Given the description of an element on the screen output the (x, y) to click on. 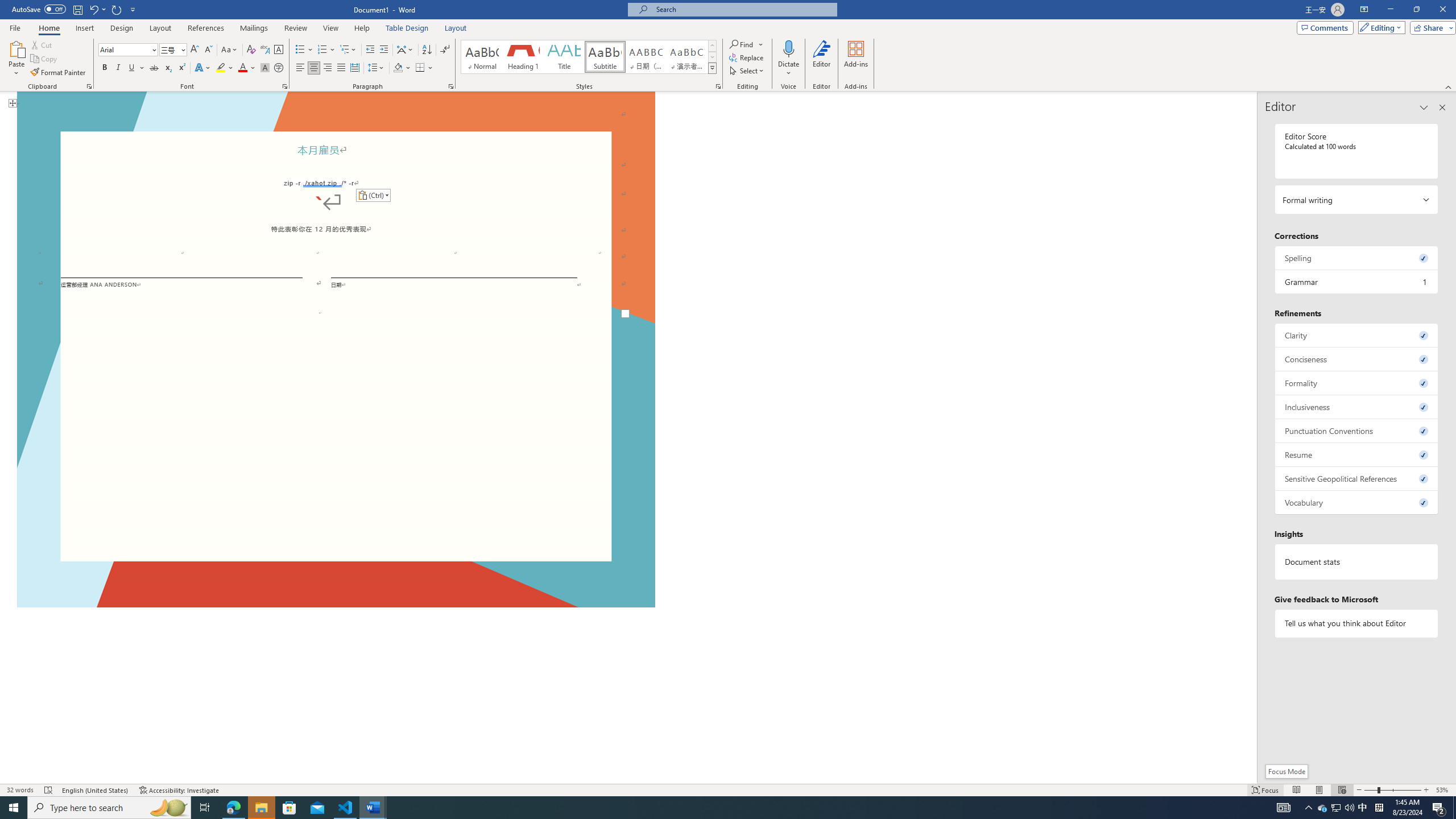
Document statistics (1356, 561)
